Given the description of an element on the screen output the (x, y) to click on. 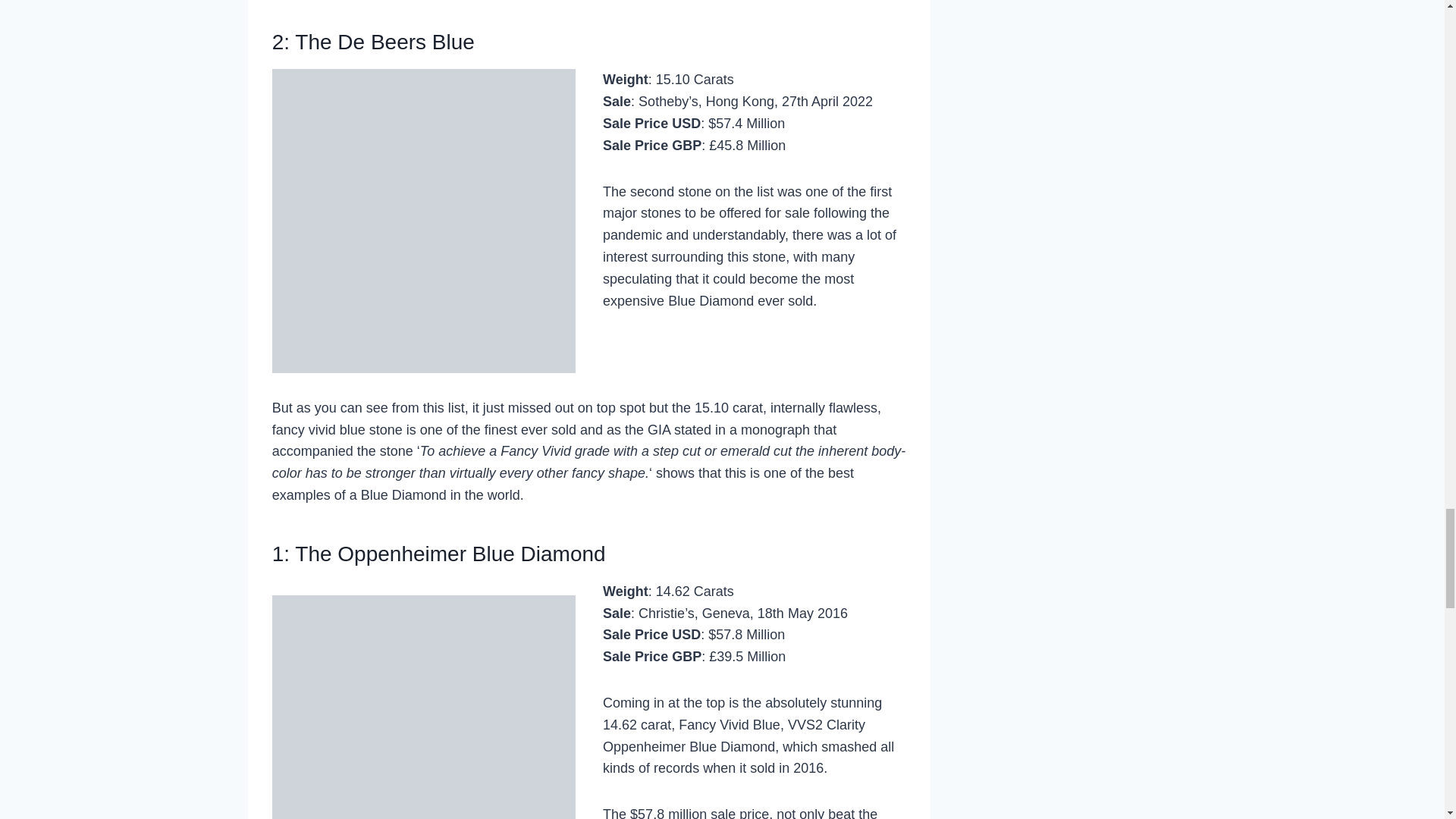
The De Beers Blue (384, 42)
The Oppenheimer Blue Diamond (450, 553)
